Given the description of an element on the screen output the (x, y) to click on. 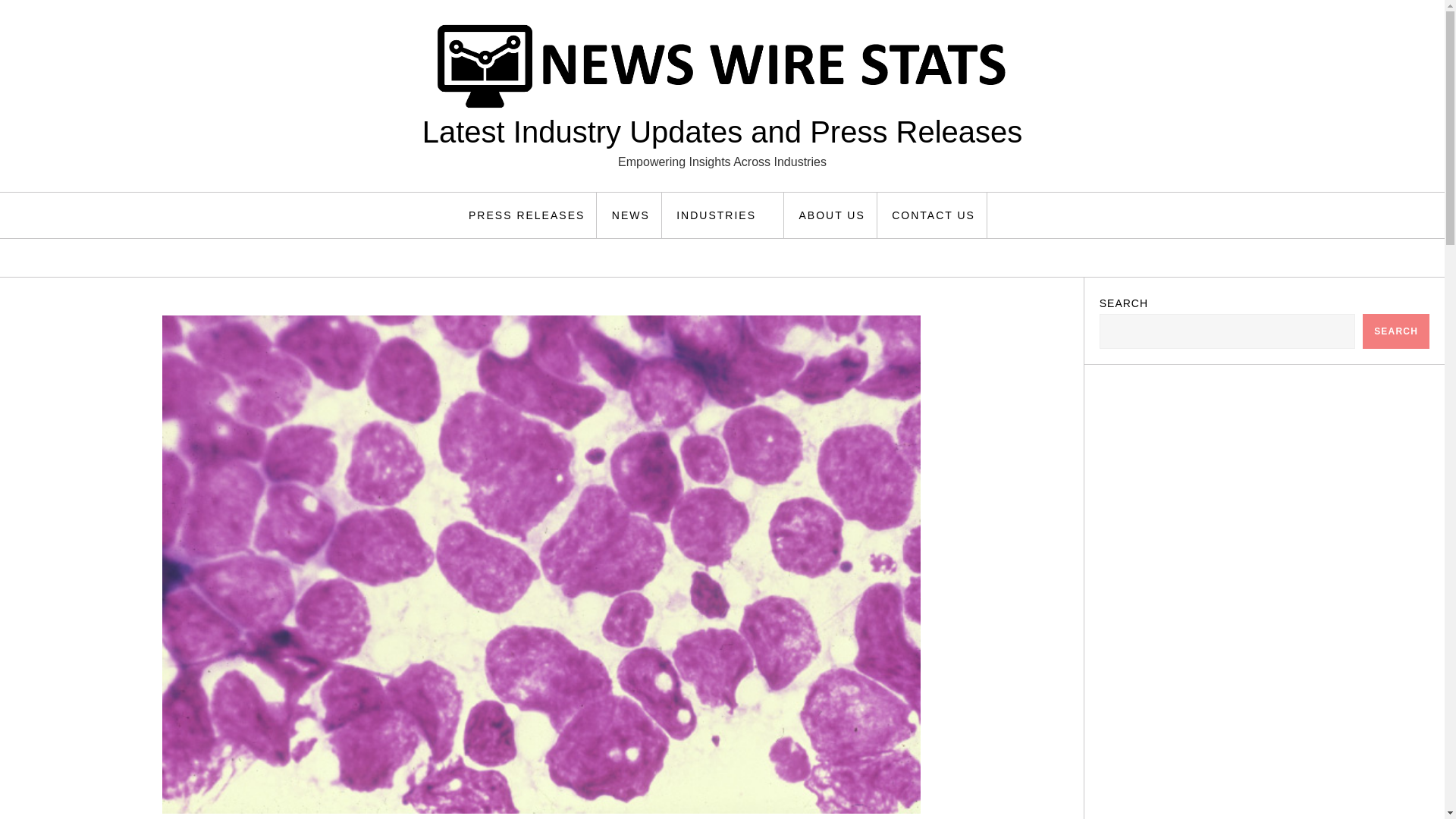
Latest Industry Updates and Press Releases (722, 131)
PRESS RELEASES (526, 215)
INDUSTRIES (724, 215)
SEARCH (1395, 330)
ABOUT US (831, 215)
NEWS (630, 215)
CONTACT US (933, 215)
